Given the description of an element on the screen output the (x, y) to click on. 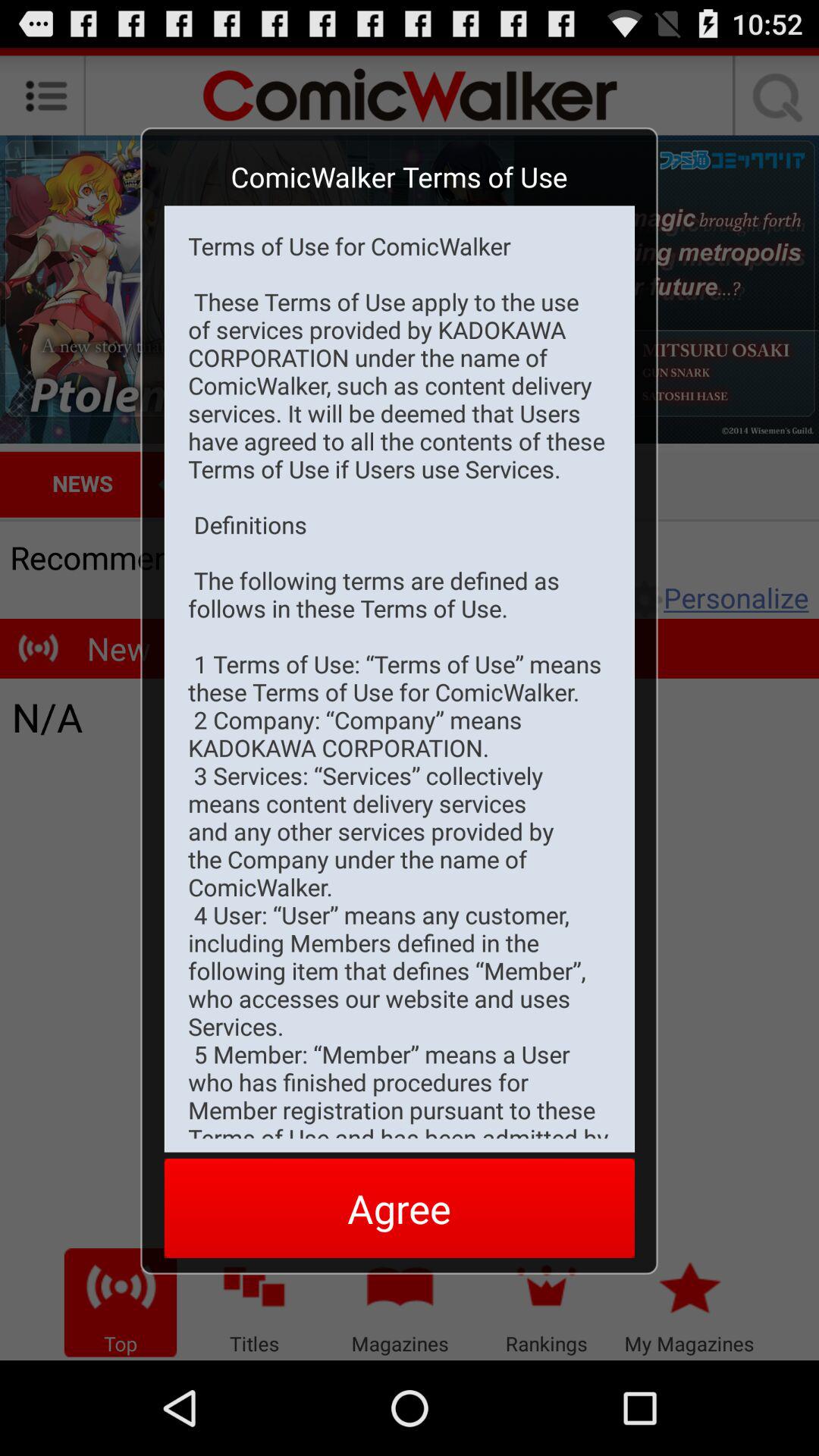
launch the agree item (399, 1208)
